Given the description of an element on the screen output the (x, y) to click on. 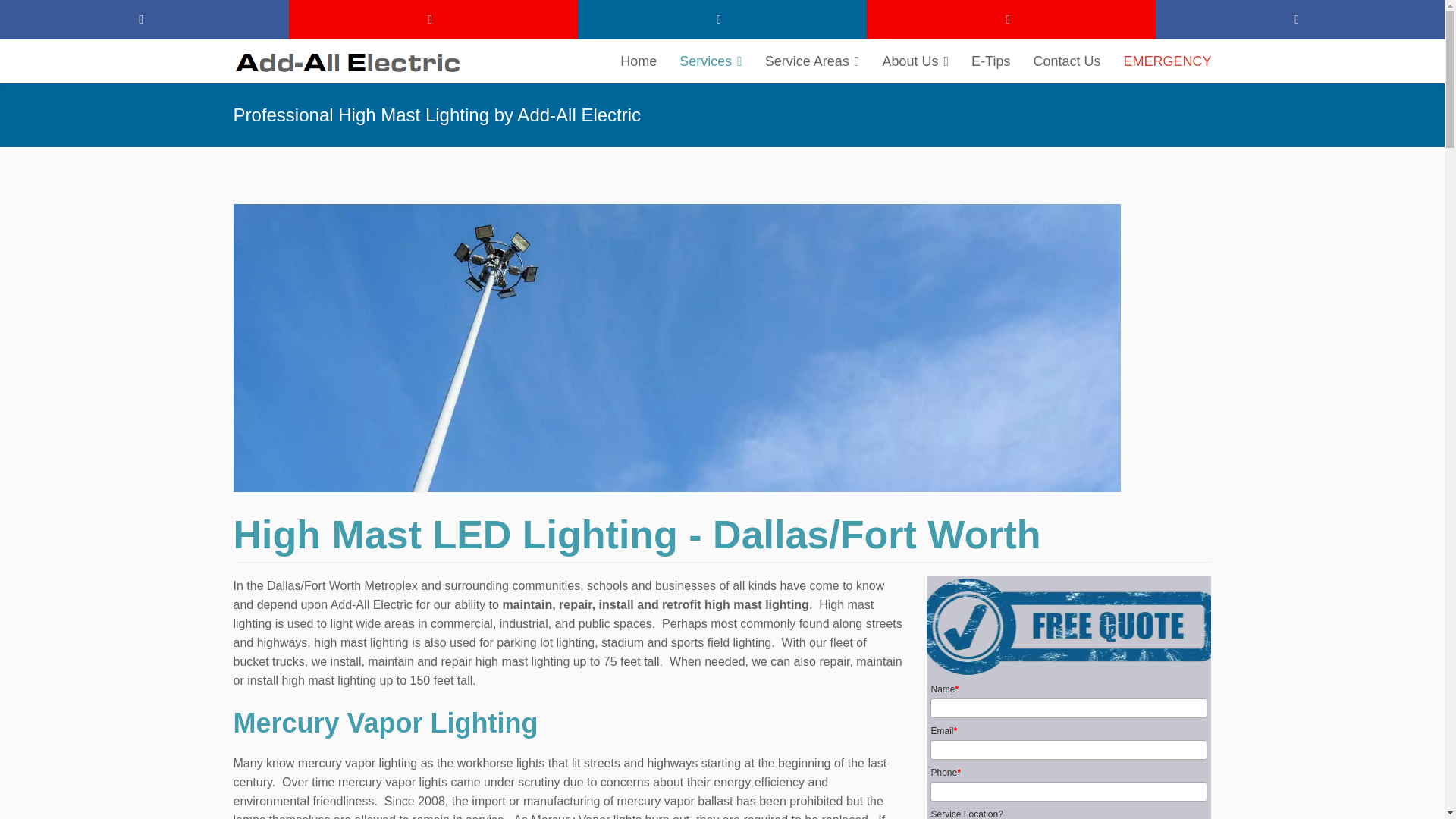
Service Areas (812, 61)
Home (638, 61)
Services (711, 61)
